Given the description of an element on the screen output the (x, y) to click on. 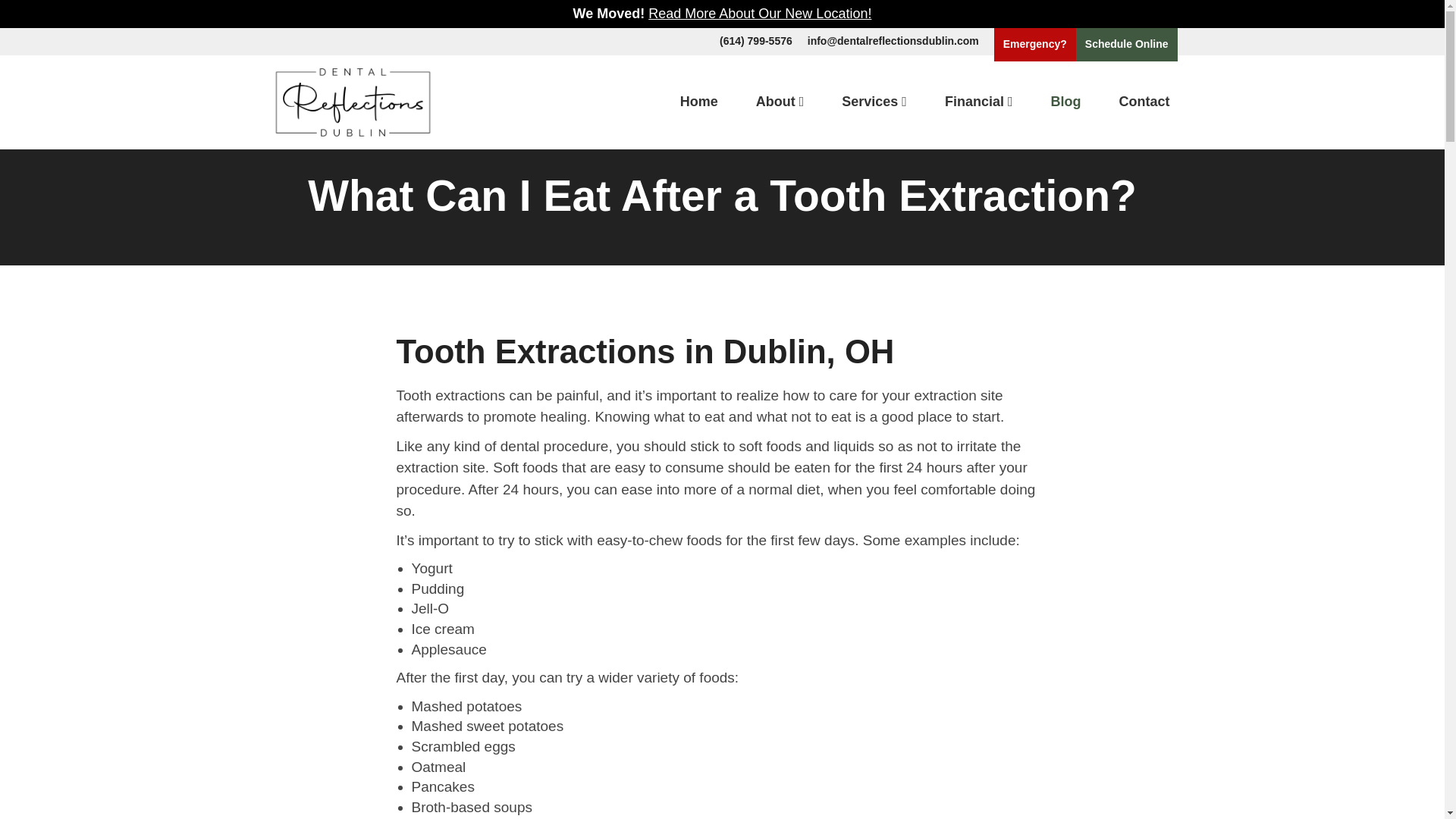
About (780, 101)
Services (874, 101)
Read More About Our New Location! (758, 13)
Emergency? (1034, 44)
Schedule Online (1126, 44)
Blog (1066, 101)
Financial (978, 101)
Home (698, 101)
Contact (1144, 101)
